Given the description of an element on the screen output the (x, y) to click on. 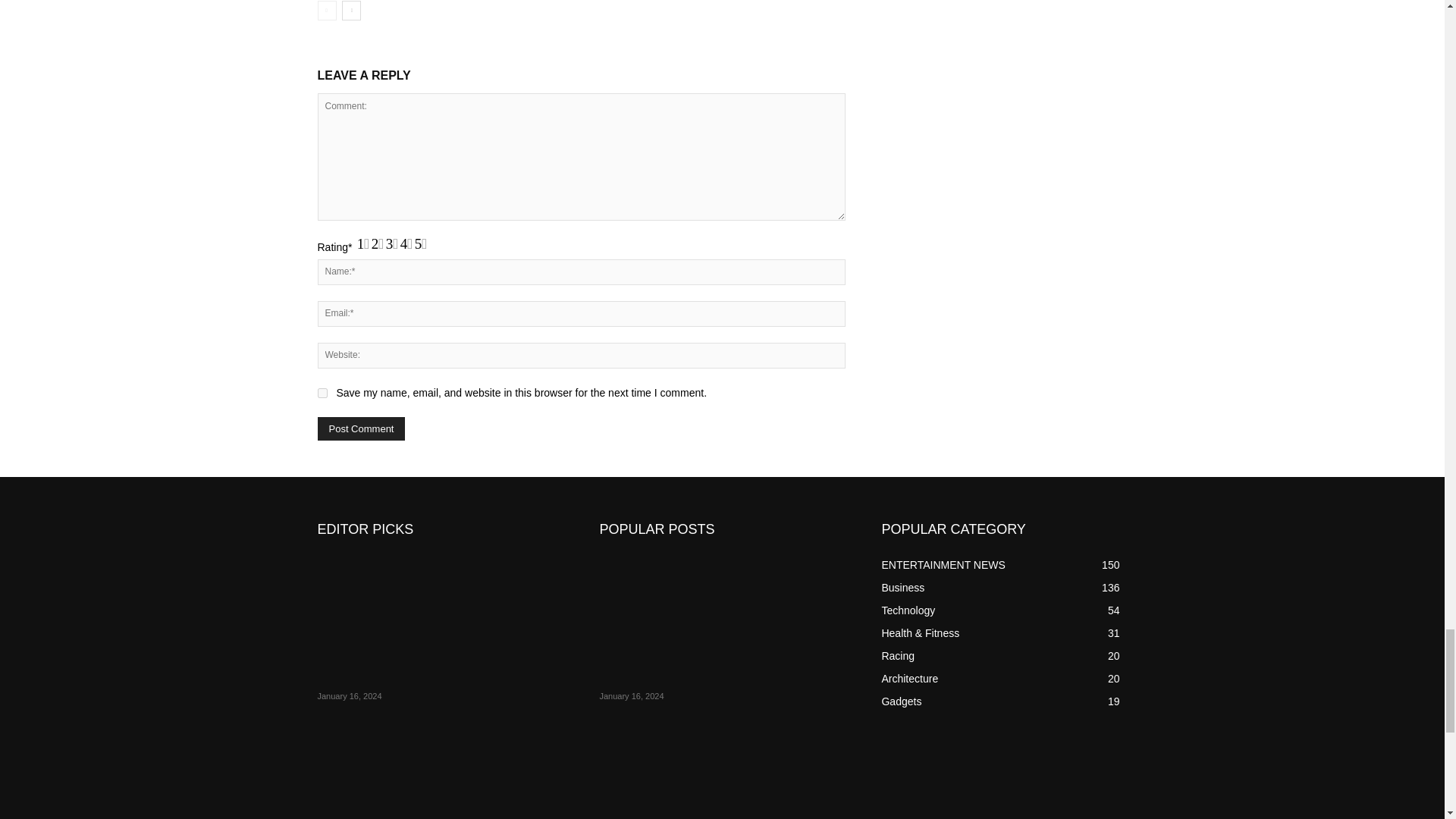
Post Comment (360, 428)
yes (321, 393)
